Given the description of an element on the screen output the (x, y) to click on. 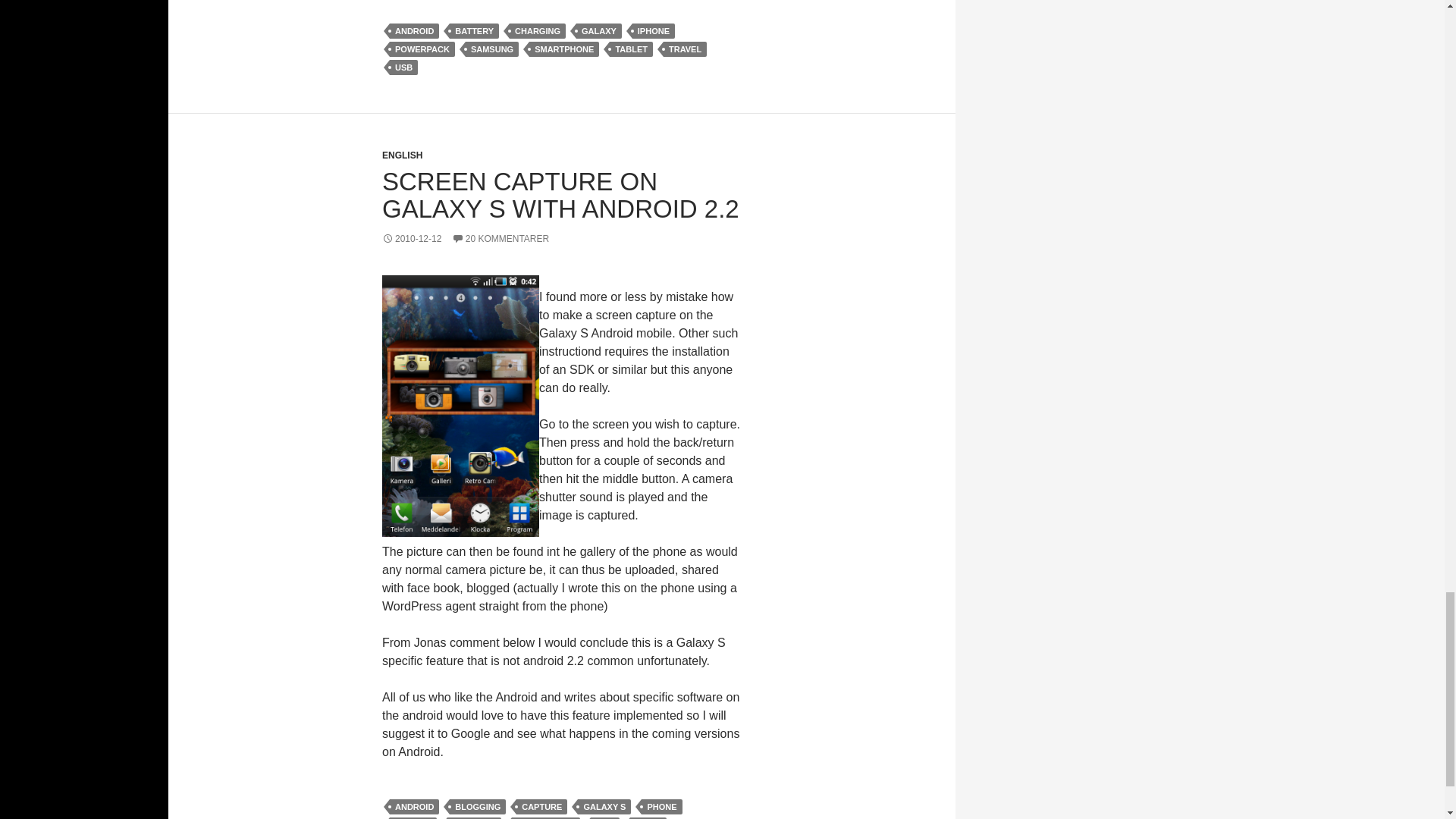
ANDROID (414, 30)
